Given the description of an element on the screen output the (x, y) to click on. 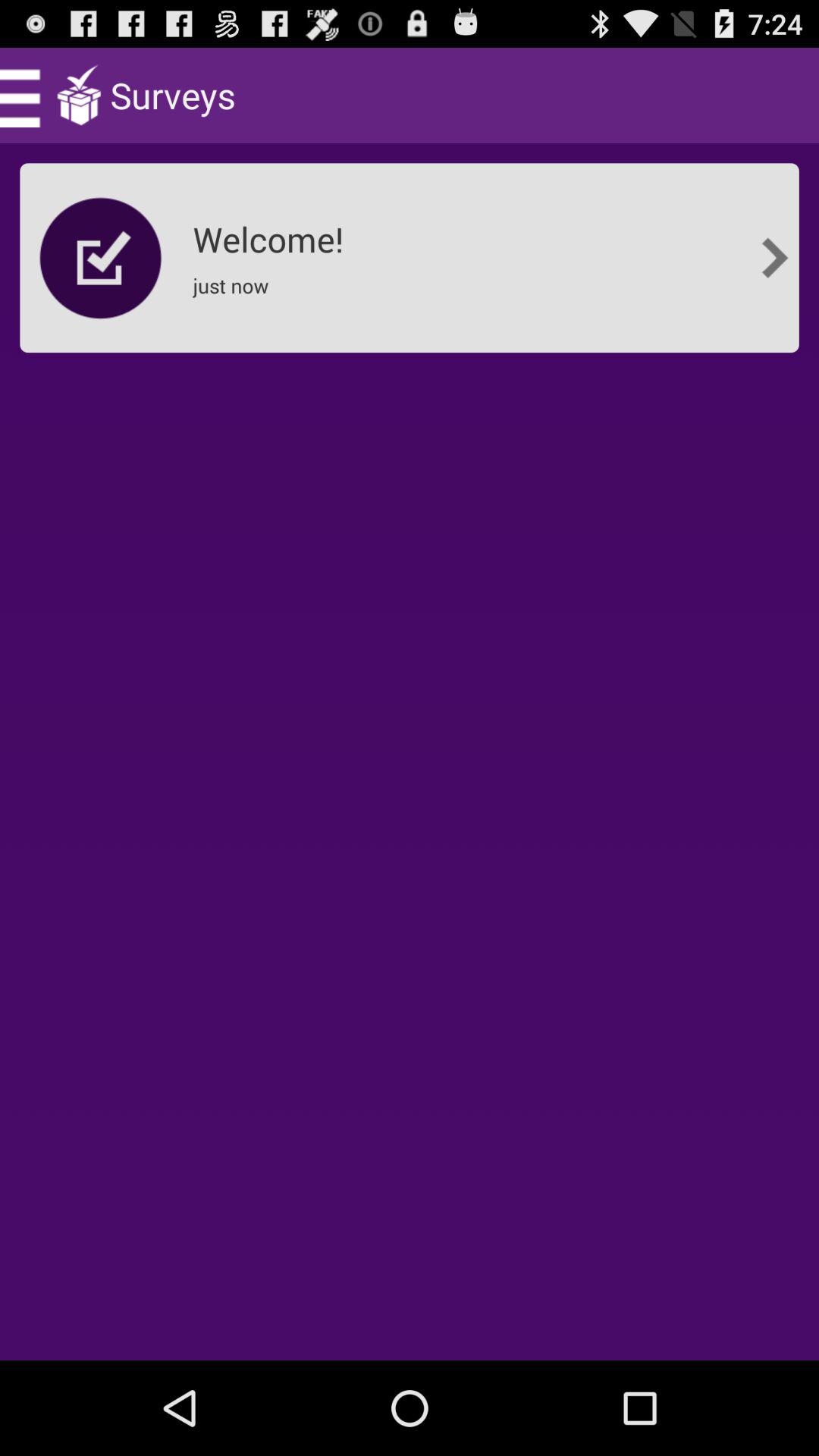
press the item to the left of the welcome! (100, 257)
